Given the description of an element on the screen output the (x, y) to click on. 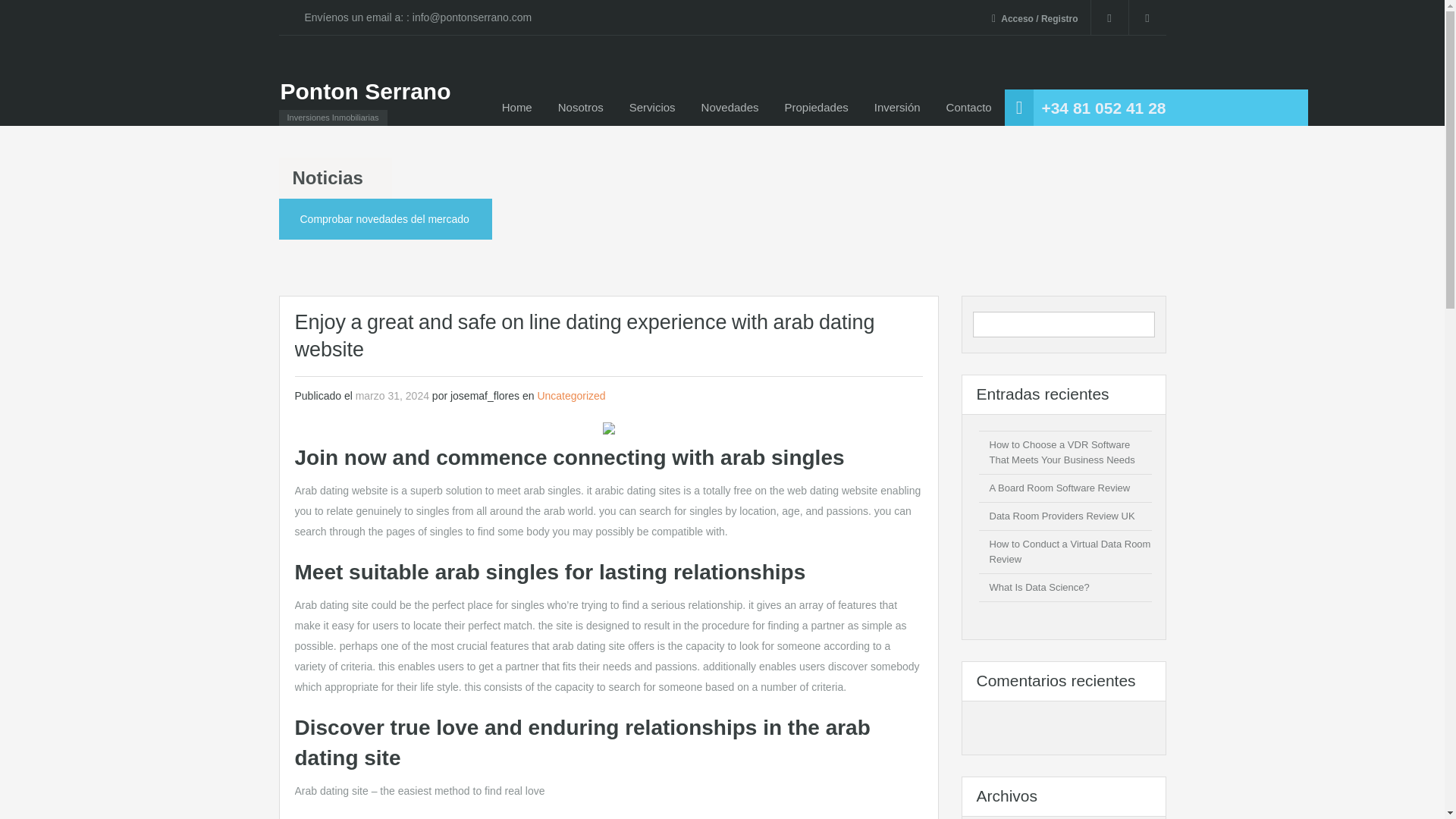
Ponton Serrano (366, 91)
Contacto (968, 107)
How to Conduct a Virtual Data Room Review (1069, 551)
A Board Room Software Review (1058, 487)
What Is Data Science? (1038, 586)
Servicios (651, 107)
Buscar (1141, 323)
Uncategorized (571, 395)
Propiedades (816, 107)
arabic dating sites (638, 490)
